Given the description of an element on the screen output the (x, y) to click on. 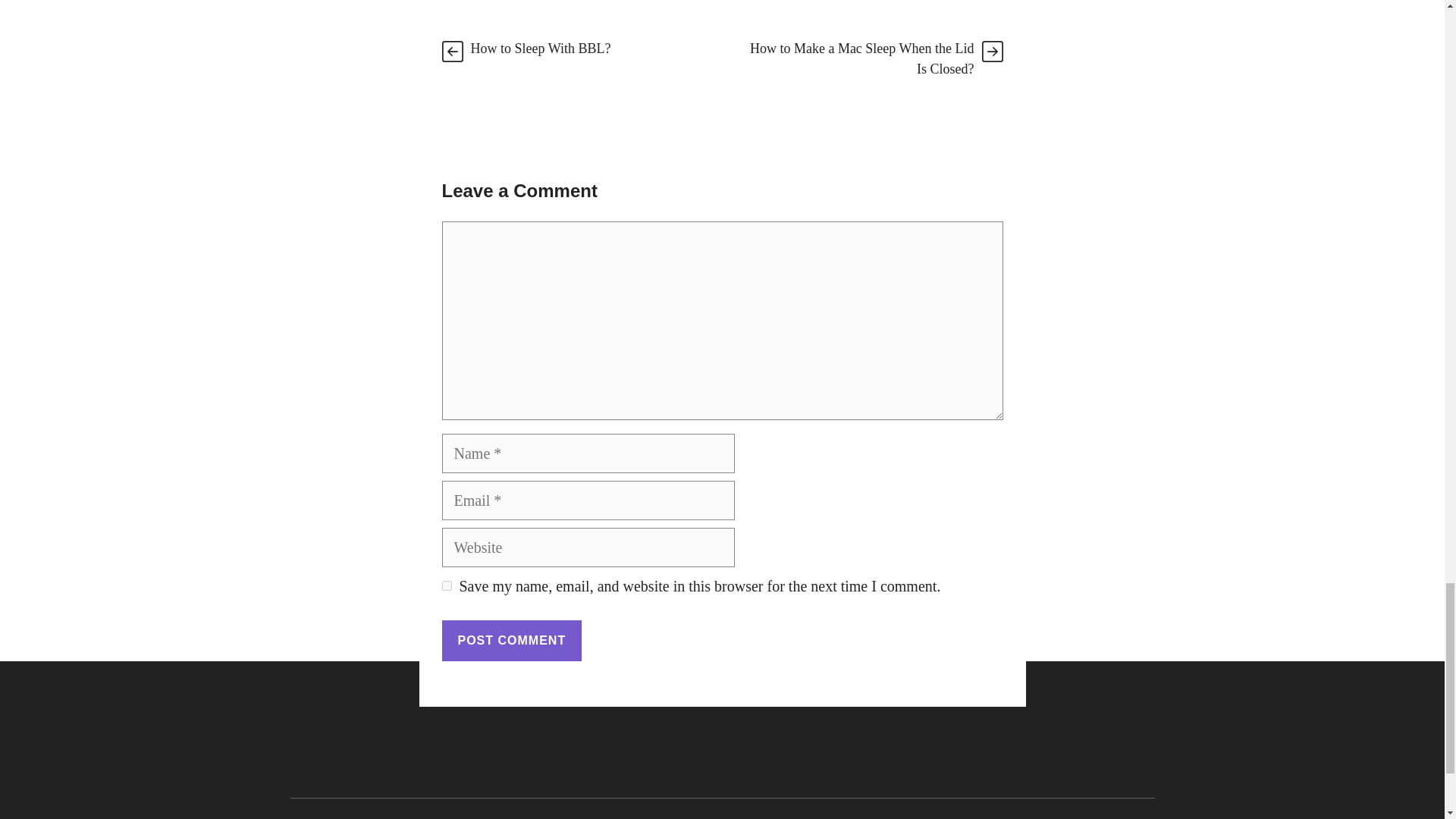
How to Make a Mac Sleep When the Lid Is Closed? (861, 58)
Post Comment (510, 639)
Post Comment (510, 639)
yes (446, 585)
How to Sleep With BBL? (540, 48)
